Given the description of an element on the screen output the (x, y) to click on. 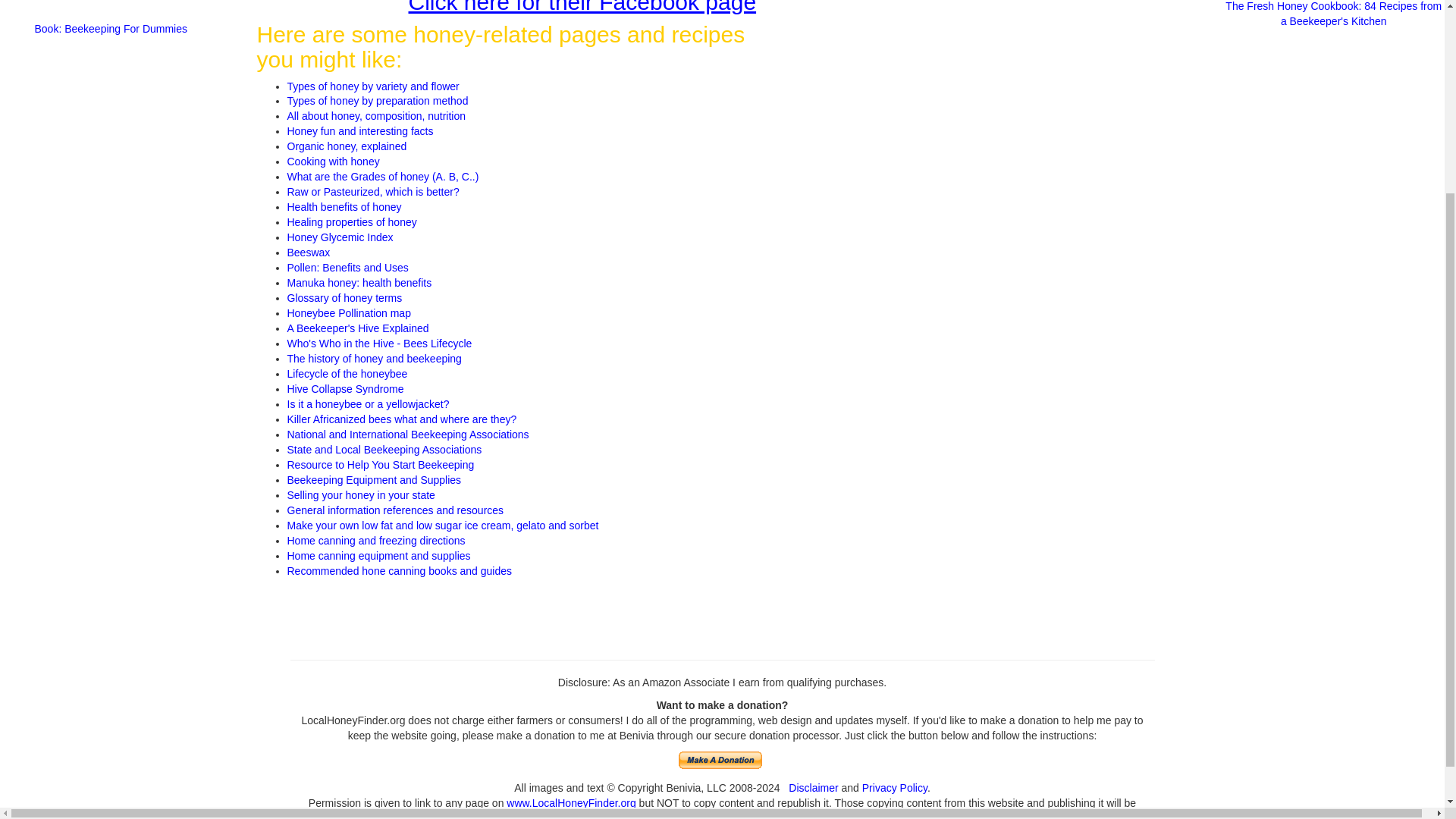
The history of honey and beekeeping (373, 358)
Health benefits of honey (343, 206)
Click here for their Facebook page (581, 6)
Raw or Pasteurized, which is better? (372, 191)
Who's Who in the Hive - Bees Lifecycle (378, 343)
Hive Collapse Syndrome (344, 388)
Honeybee Pollination map (348, 313)
Cooking with honey (332, 161)
Manuka honey: health benefits (358, 282)
Types of honey by variety and flower (372, 85)
Organic honey, explained (346, 146)
Glossary of honey terms (343, 297)
A Beekeeper's Hive Explained (357, 328)
Types of honey by preparation method (376, 101)
Pollen: Benefits and Uses (346, 267)
